Given the description of an element on the screen output the (x, y) to click on. 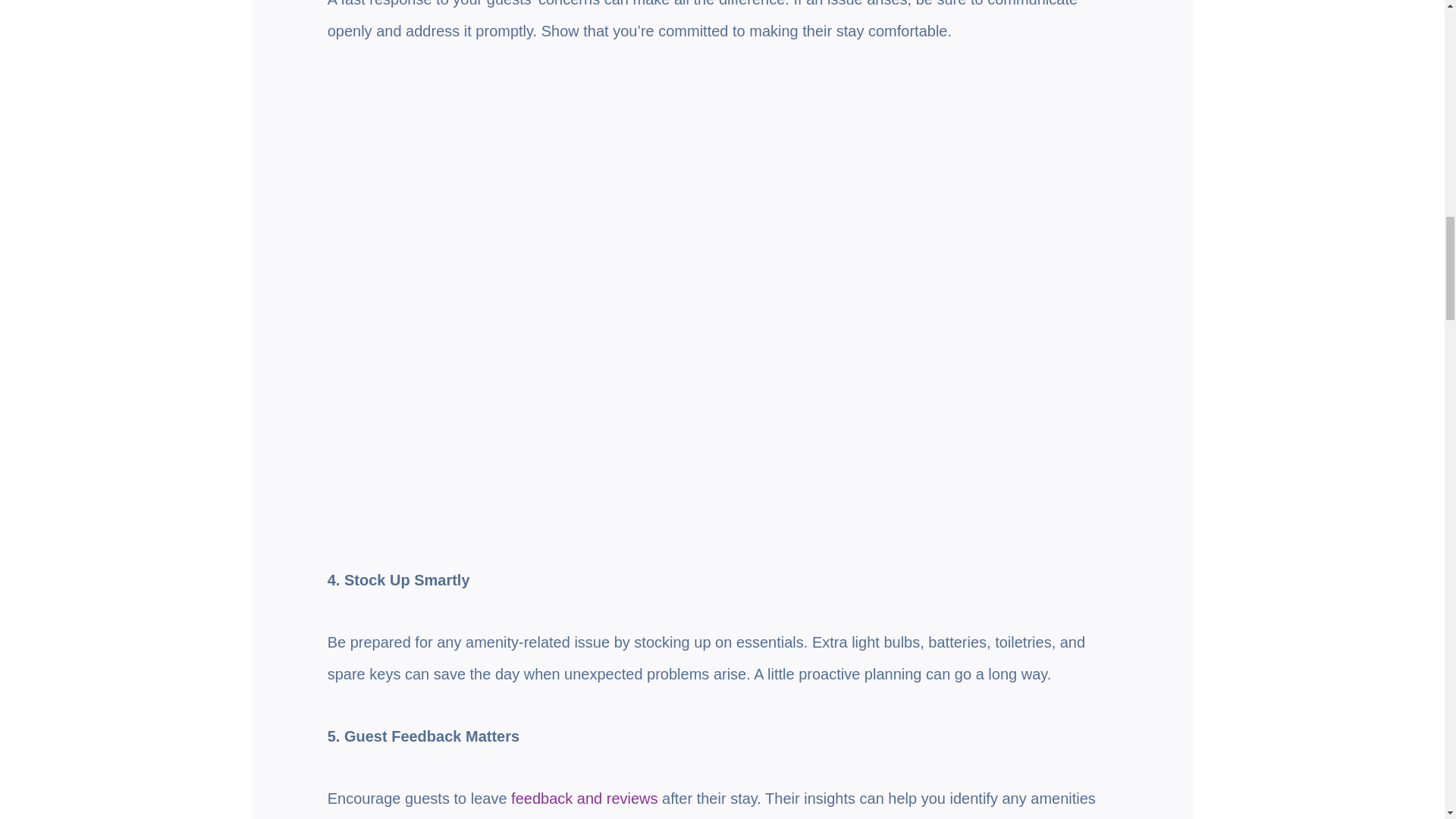
feedback and reviews (584, 798)
feedback and reviews (584, 798)
